Given the description of an element on the screen output the (x, y) to click on. 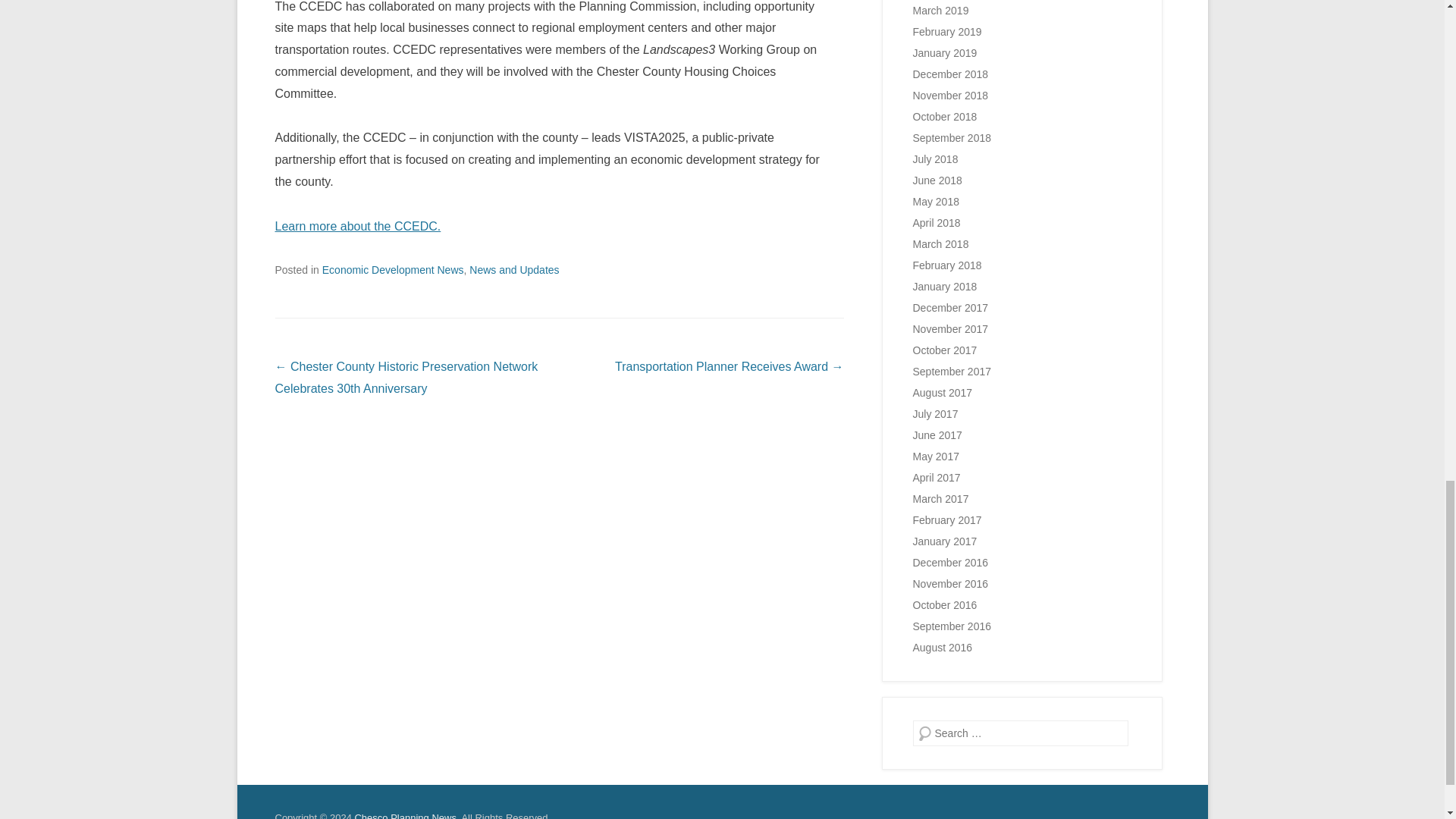
Economic Development News (392, 269)
News and Updates (513, 269)
Learn more about the CCEDC. (358, 226)
